Given the description of an element on the screen output the (x, y) to click on. 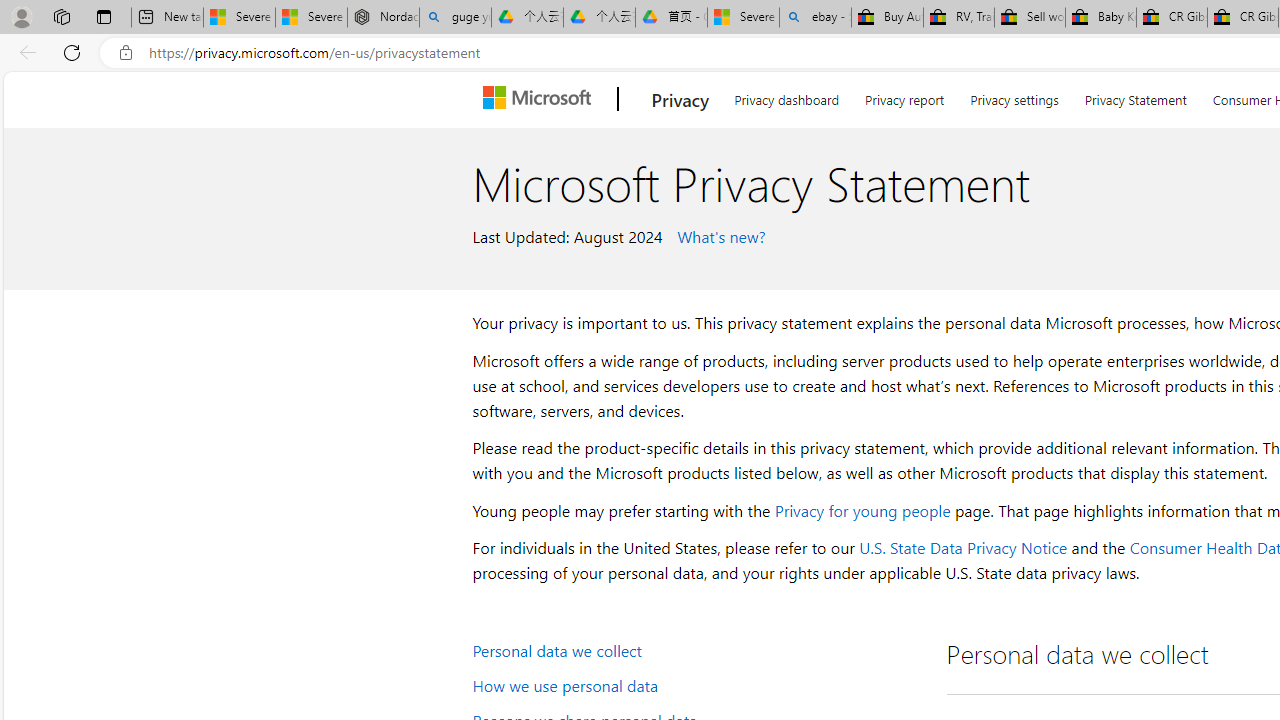
Privacy Statement (1135, 96)
How we use personal data (696, 684)
Privacy Statement (1135, 96)
U.S. State Data Privacy Notice (962, 547)
Personal data we collect (696, 650)
Privacy settings (1014, 96)
Privacy for young people (862, 509)
guge yunpan - Search (455, 17)
